Given the description of an element on the screen output the (x, y) to click on. 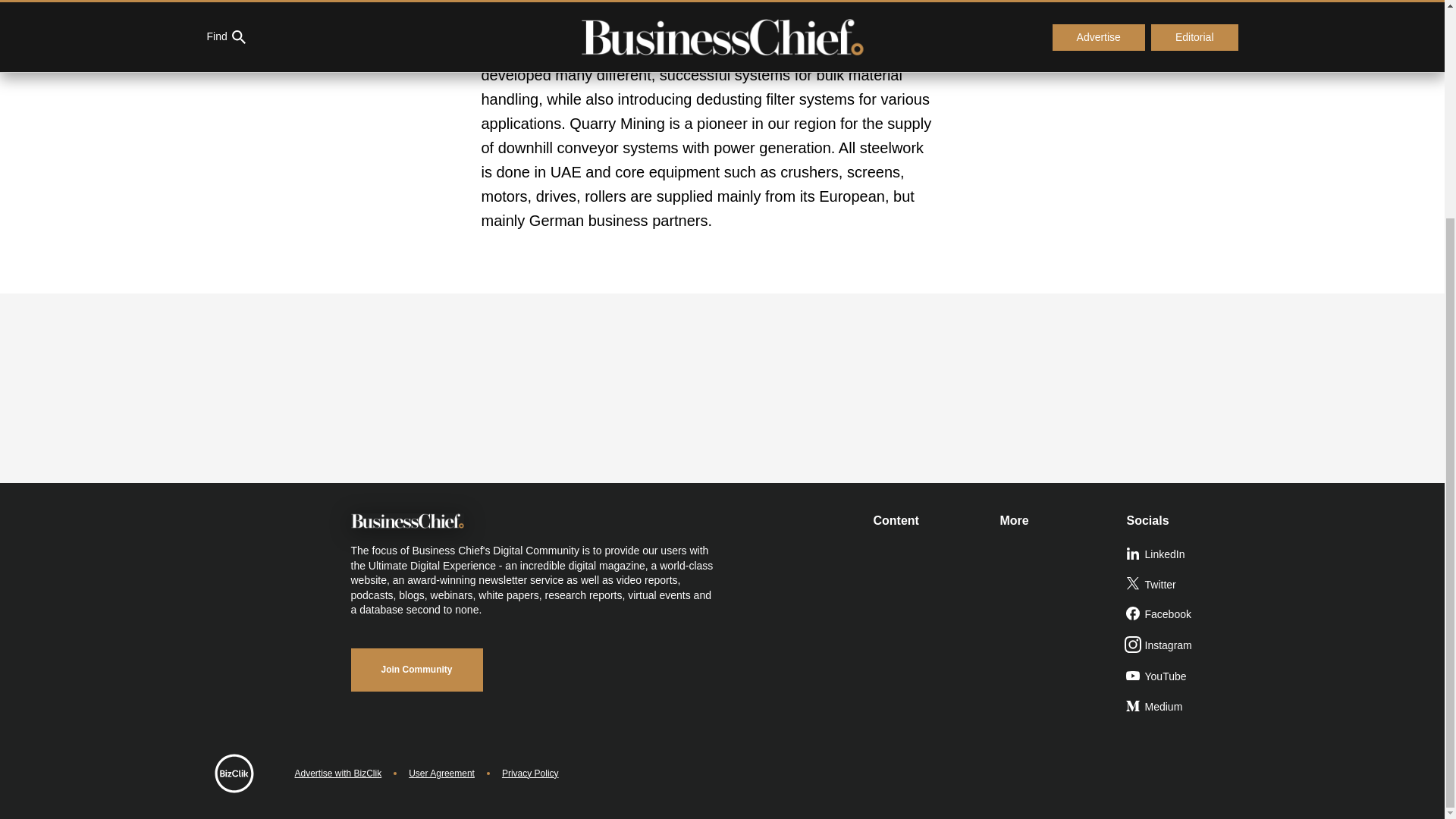
Medium (1182, 707)
Facebook (1182, 614)
Instagram (1182, 645)
LinkedIn (1182, 554)
Join Community (415, 669)
Privacy Policy (530, 773)
YouTube (1182, 676)
Advertise with BizClik (337, 773)
Visit Partner Website (1123, 27)
User Agreement (441, 773)
Twitter (1182, 585)
